Given the description of an element on the screen output the (x, y) to click on. 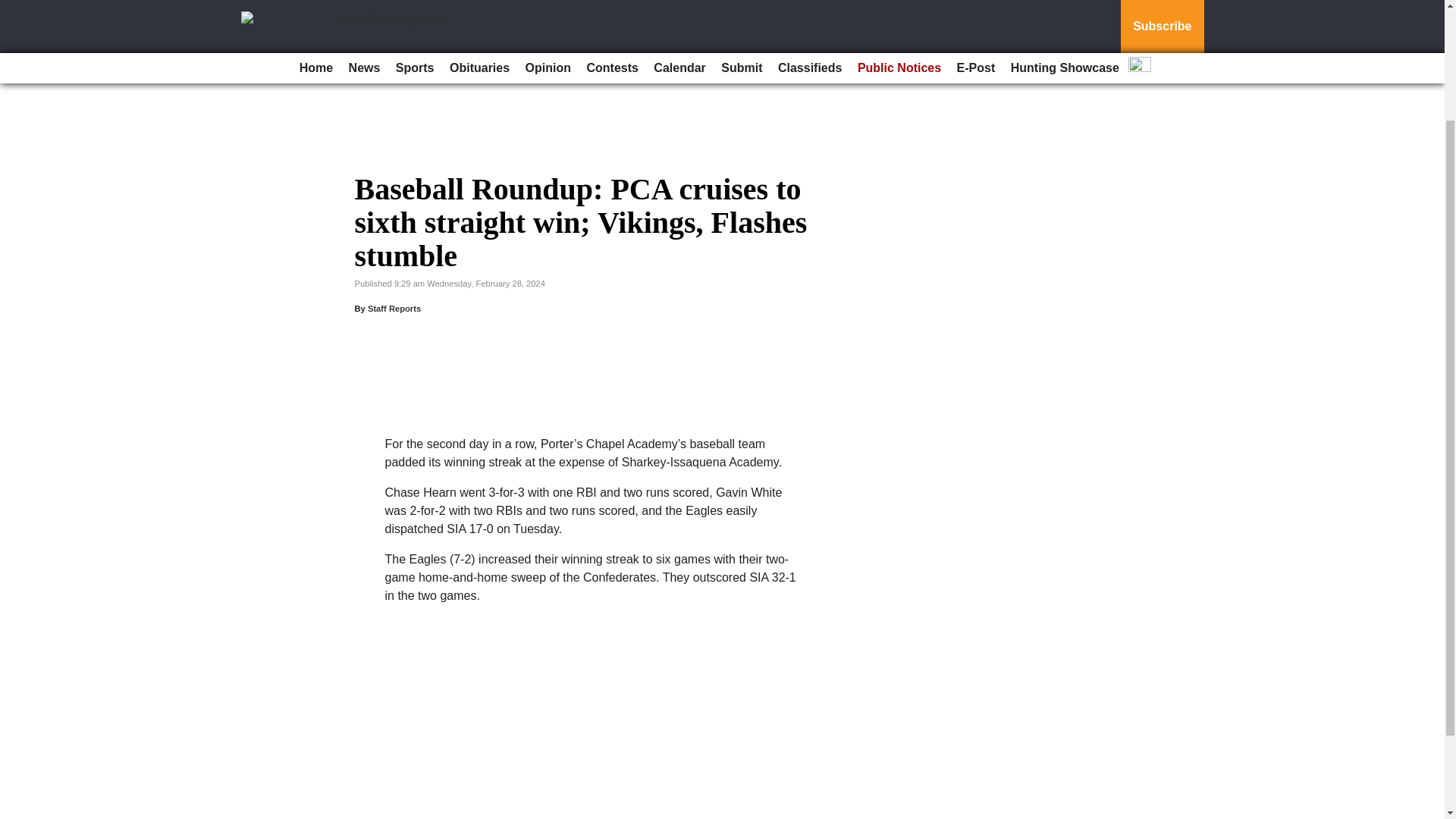
Staff Reports (394, 307)
